Given the description of an element on the screen output the (x, y) to click on. 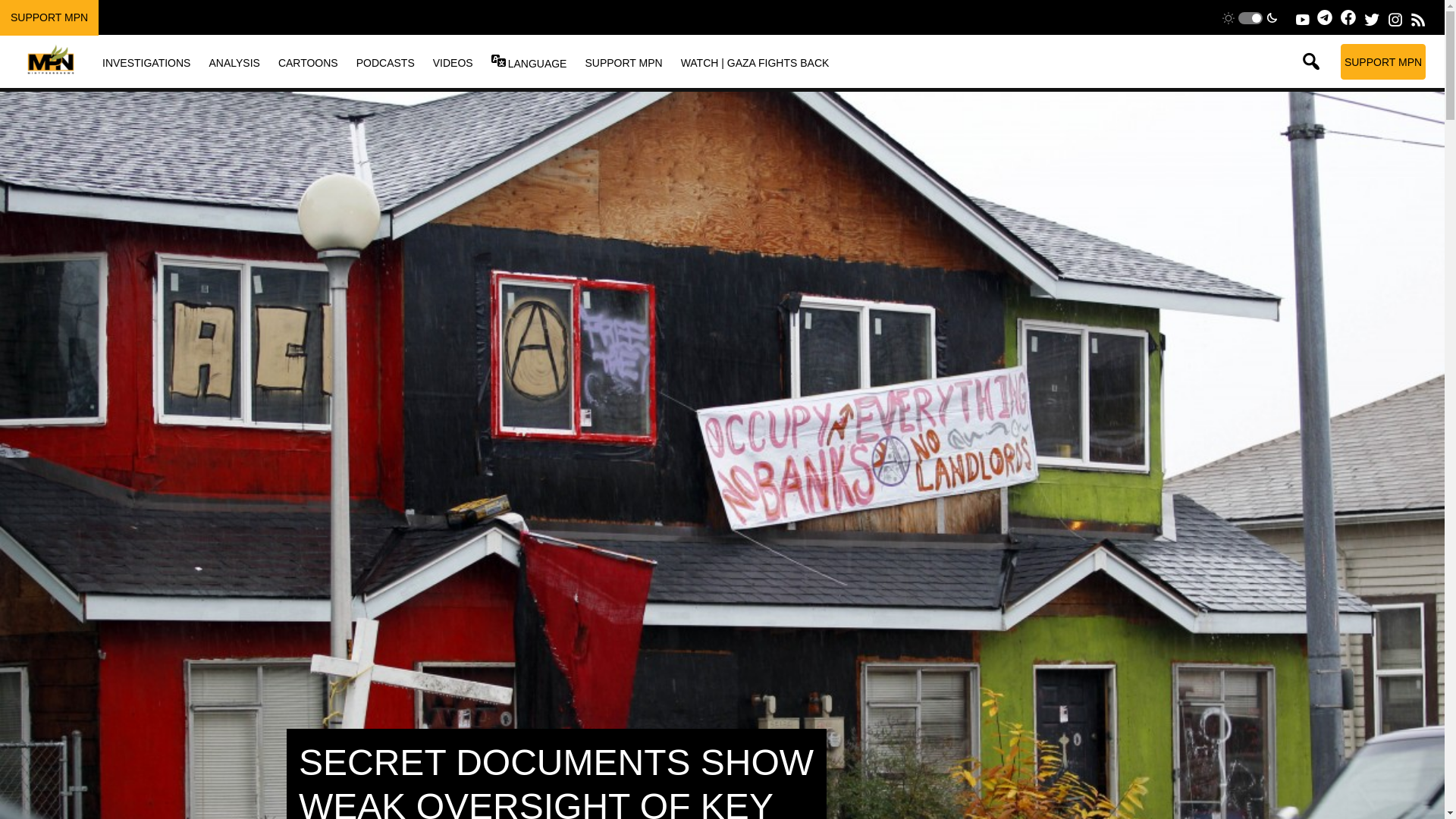
CARTOONS (307, 62)
ANALYSIS (233, 62)
SUPPORT MPN (1382, 61)
LANGUAGE (536, 63)
VIDEOS (452, 62)
INVESTIGATIONS (145, 62)
SUPPORT MPN (48, 17)
PODCASTS (385, 62)
SUPPORT MPN (623, 62)
